Given the description of an element on the screen output the (x, y) to click on. 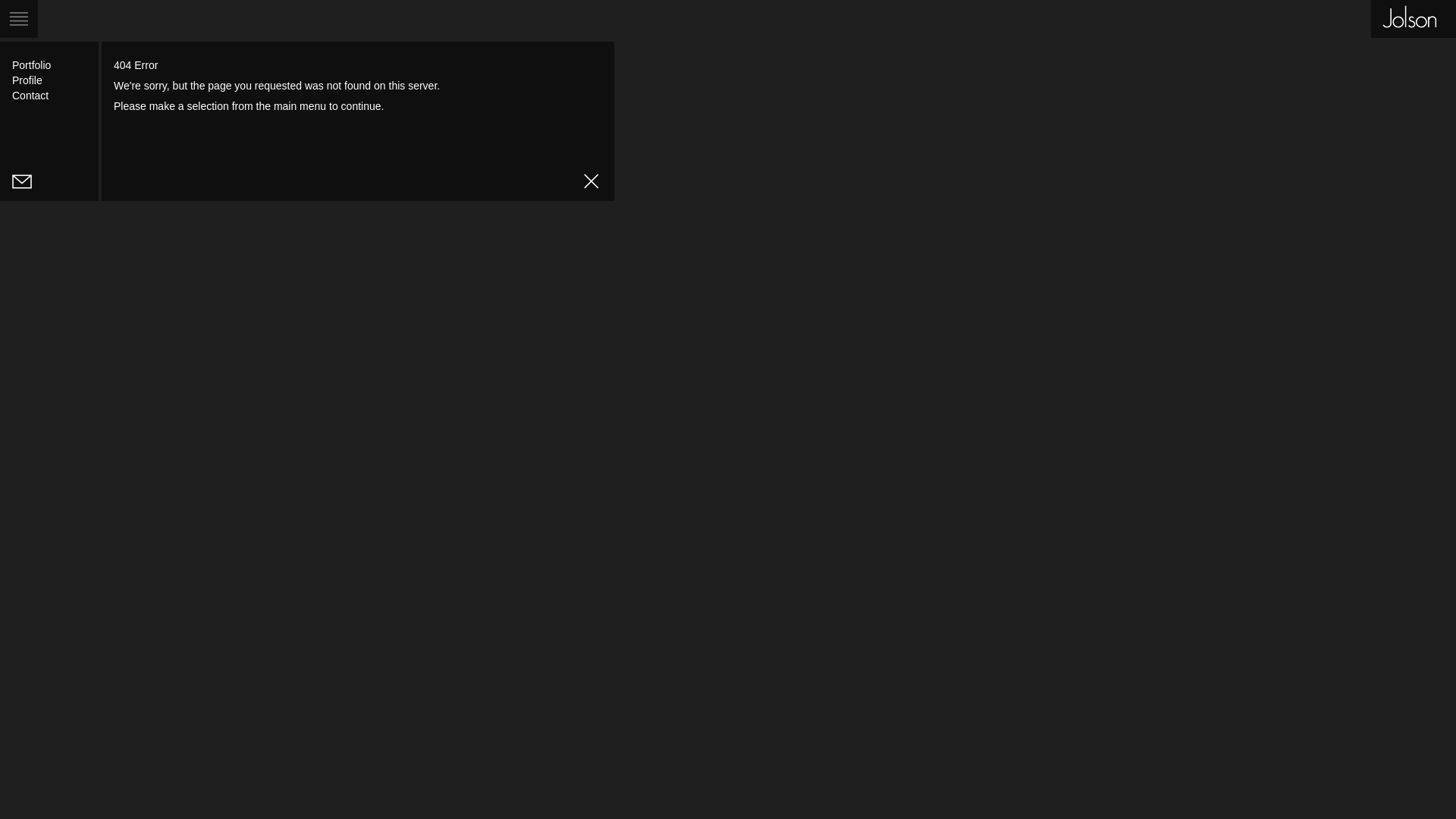
Profile Element type: text (27, 80)
Contact Element type: text (30, 95)
Portfolio Element type: text (31, 65)
